Given the description of an element on the screen output the (x, y) to click on. 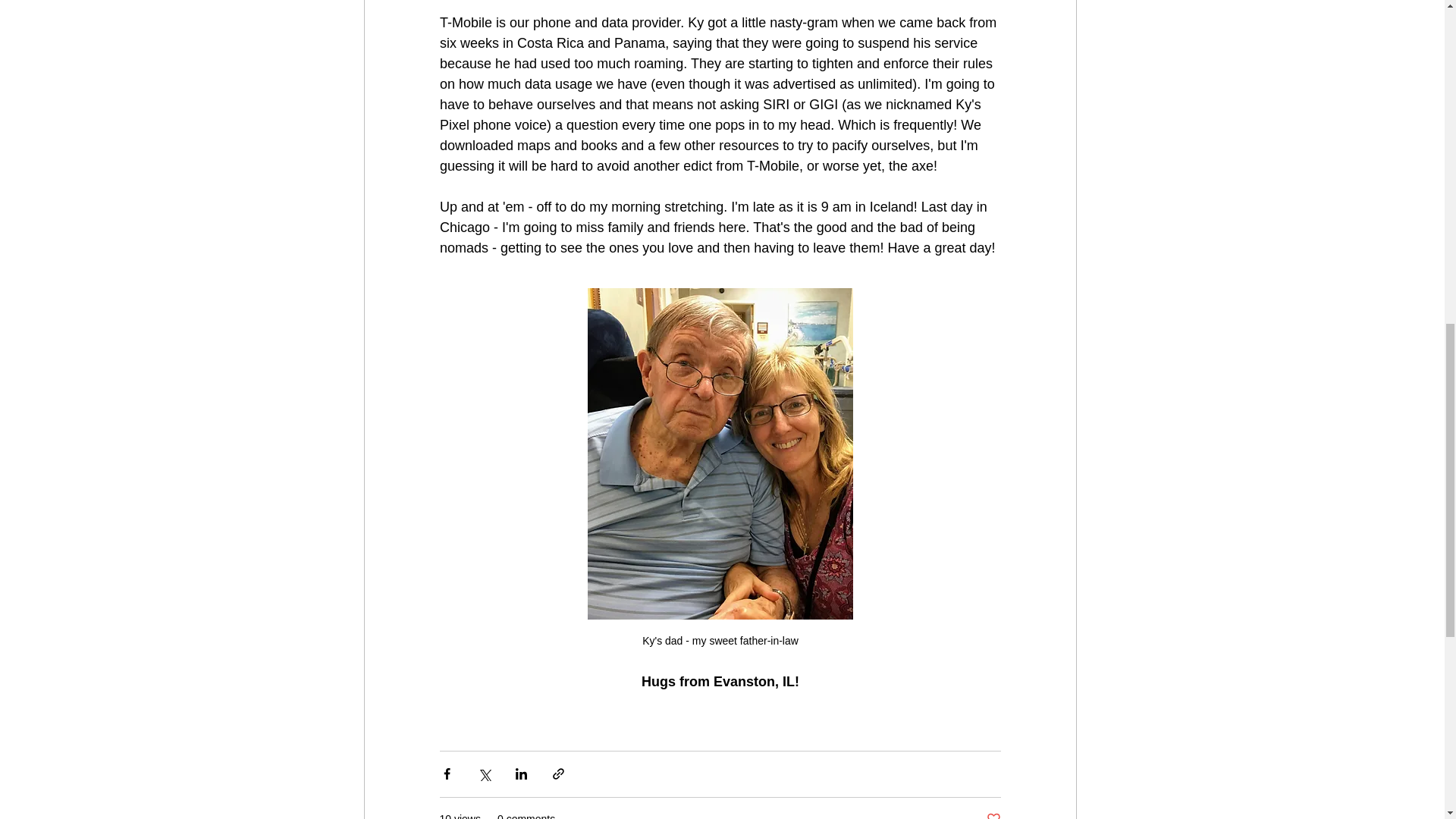
Post not marked as liked (992, 815)
